Given the description of an element on the screen output the (x, y) to click on. 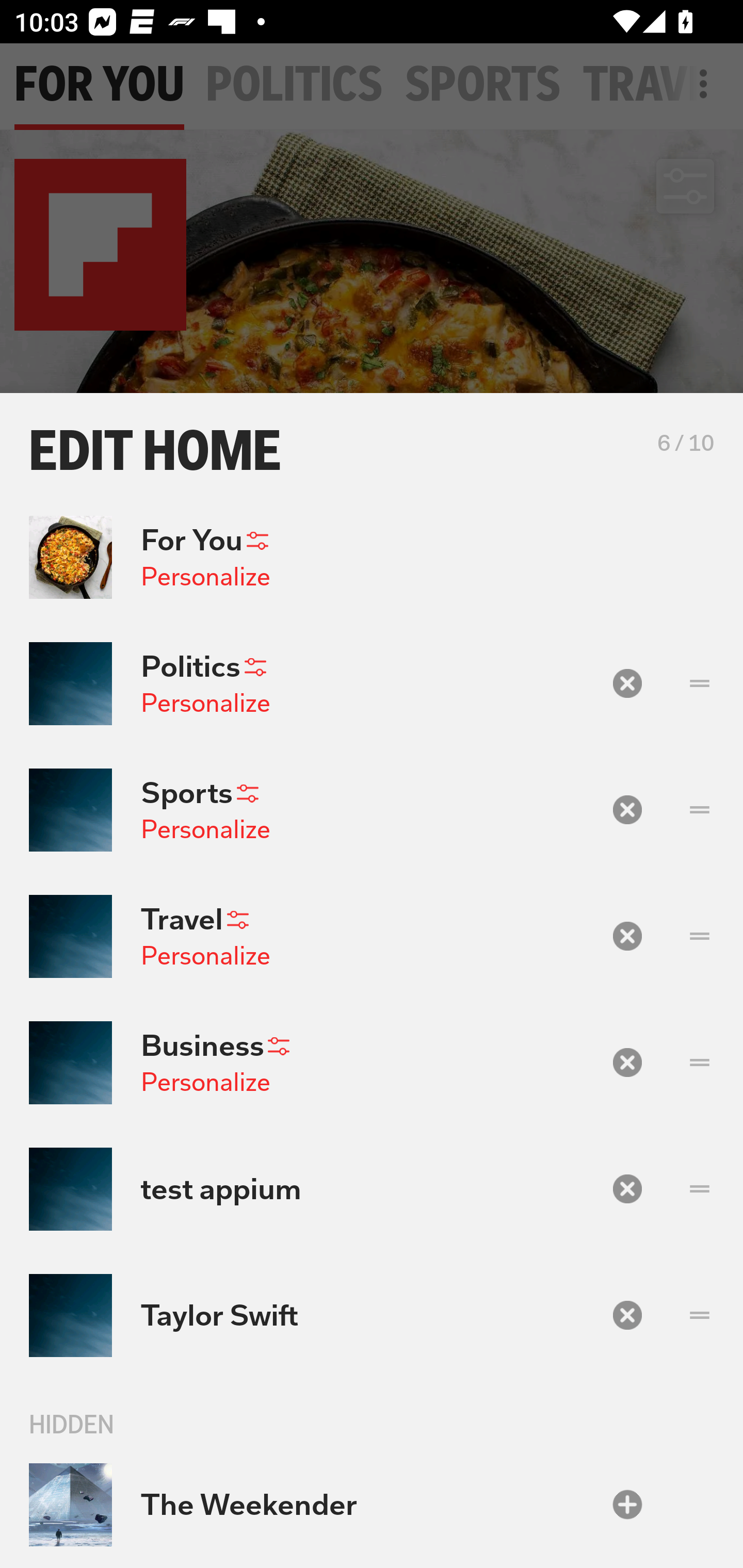
Personalize (205, 576)
Personalize (205, 702)
Personalize (205, 829)
Personalize (205, 955)
Personalize (205, 1081)
